Given the description of an element on the screen output the (x, y) to click on. 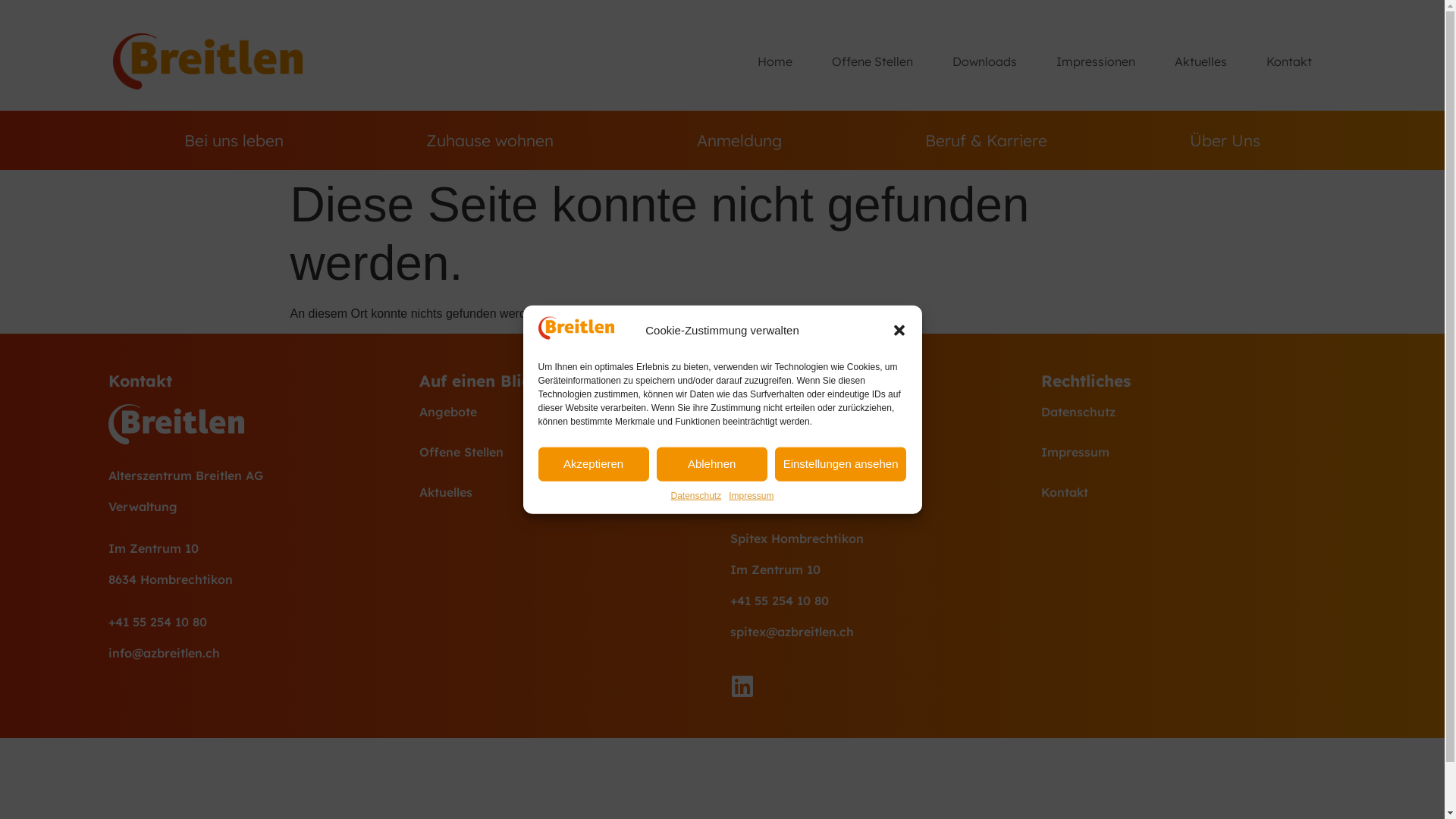
Aktuelles Element type: text (1200, 60)
Home Element type: text (774, 60)
Offene Stellen Element type: text (872, 60)
spitex@azbreitlen.ch Element type: text (791, 631)
+41 55 254 10 80 Element type: text (778, 600)
Ablehnen Element type: text (711, 463)
Impressionen Element type: text (1095, 60)
Angebote Element type: text (566, 411)
Kontakt Element type: text (1188, 491)
Einstellungen ansehen Element type: text (840, 463)
Anmeldung Element type: text (739, 139)
info@azbreitlen.ch Element type: text (163, 652)
Datenschutz Element type: text (695, 495)
Impressum Element type: text (1188, 451)
Datenschutz Element type: text (1188, 411)
Beruf & Karriere Element type: text (985, 139)
+41 55 254 10 80 Element type: text (156, 621)
Downloads Element type: text (984, 60)
Offene Stellen Element type: text (566, 451)
Akzeptieren Element type: text (593, 463)
+41 55 254 31 11 Element type: text (777, 450)
Aktuelles Element type: text (566, 491)
Kontakt Element type: text (1288, 60)
Bei uns leben Element type: text (233, 139)
Impressum Element type: text (750, 495)
empfang@azbreitlen.ch Element type: text (800, 481)
Zuhause wohnen Element type: text (489, 139)
